Given the description of an element on the screen output the (x, y) to click on. 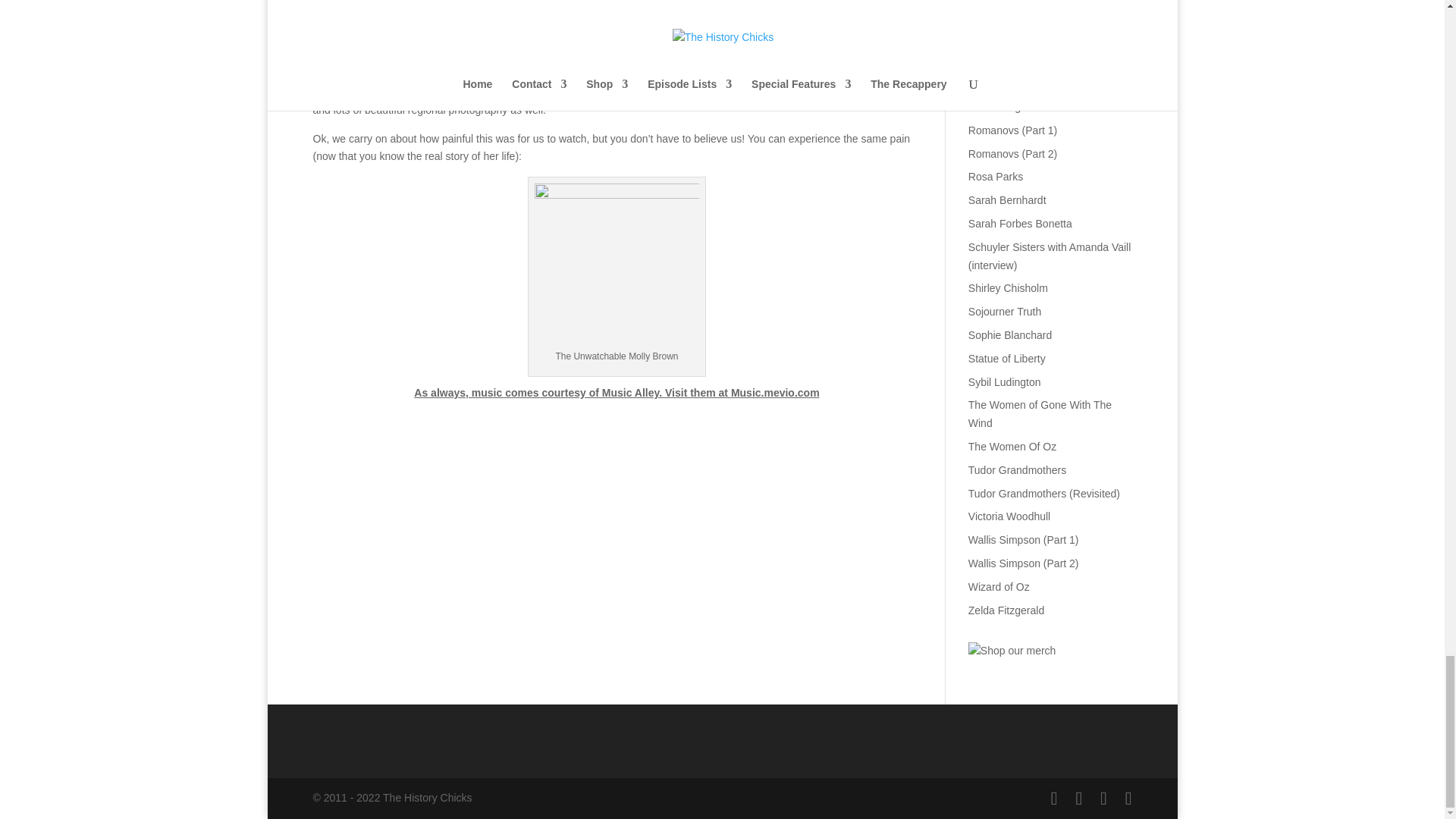
MB Unsink movie (616, 265)
